Given the description of an element on the screen output the (x, y) to click on. 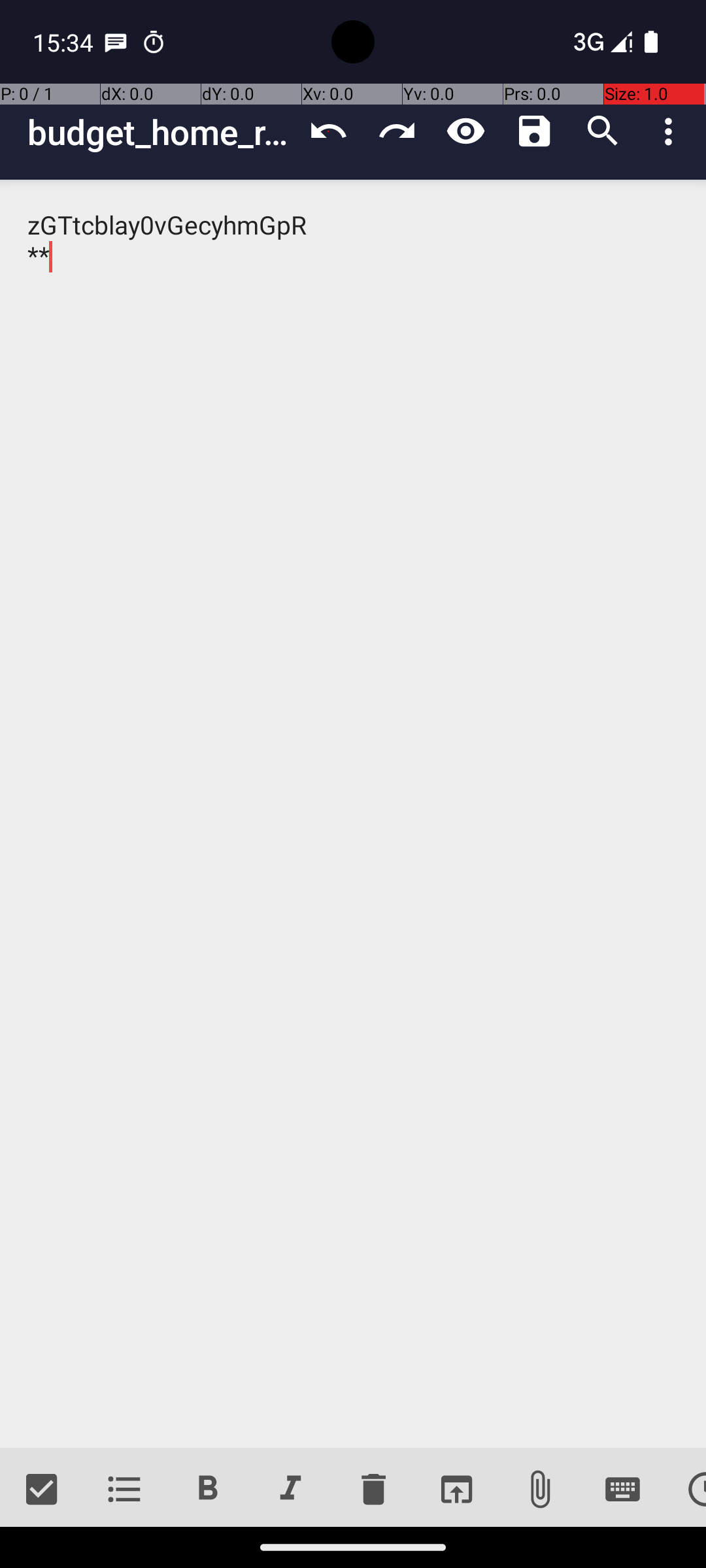
budget_home_renovation_2023_08_10 Element type: android.widget.TextView (160, 131)
zGTtcblay0vGecyhmGpR
**** Element type: android.widget.EditText (353, 813)
